Given the description of an element on the screen output the (x, y) to click on. 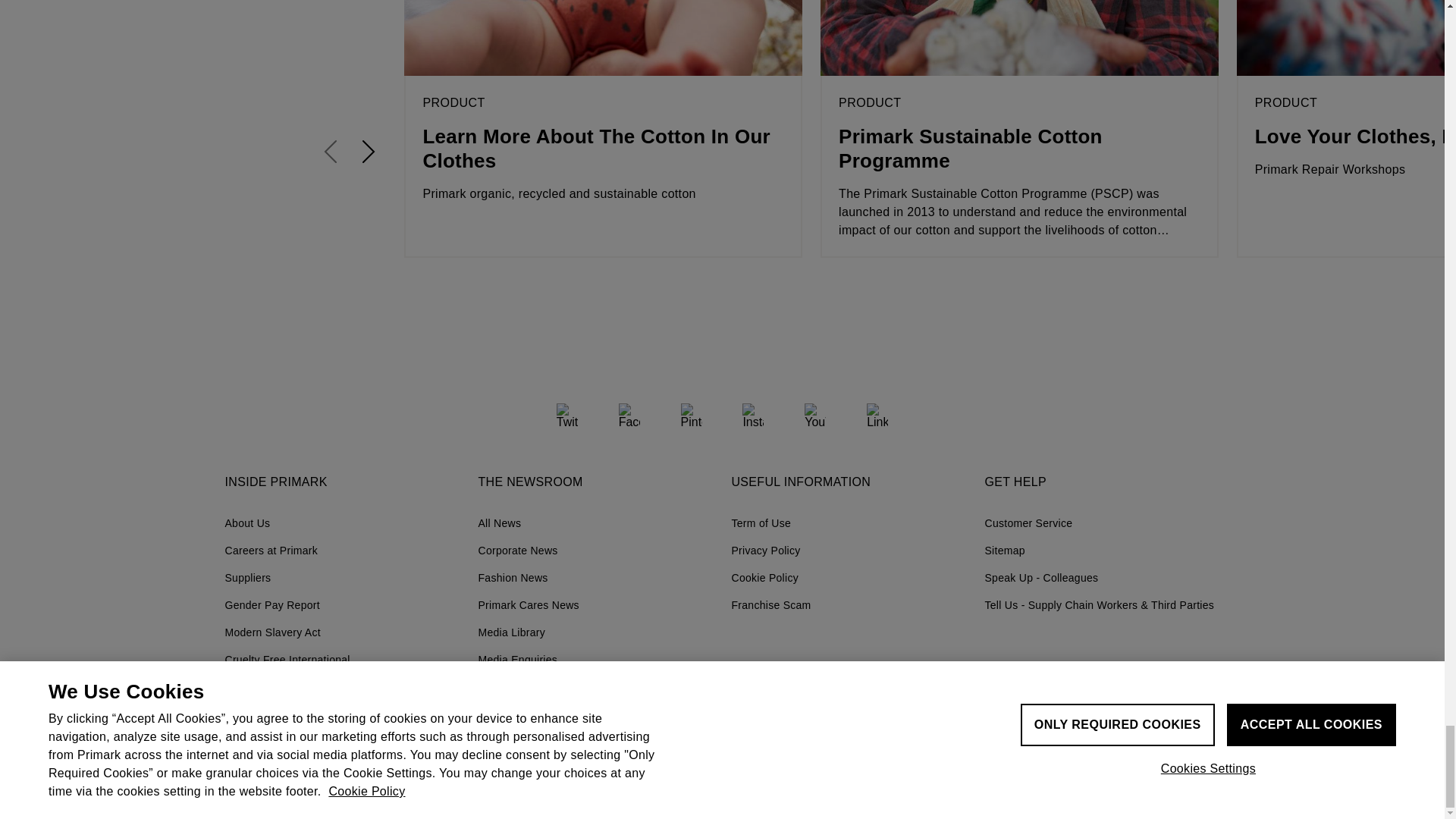
Our Sustainable Cotton Programme - Primark Cares Partners (1019, 38)
About Us (342, 522)
Youtube (815, 414)
Instagram (752, 414)
Twitter (567, 414)
LinkedIn (877, 414)
Pinteres (691, 414)
Facebook (629, 414)
